Given the description of an element on the screen output the (x, y) to click on. 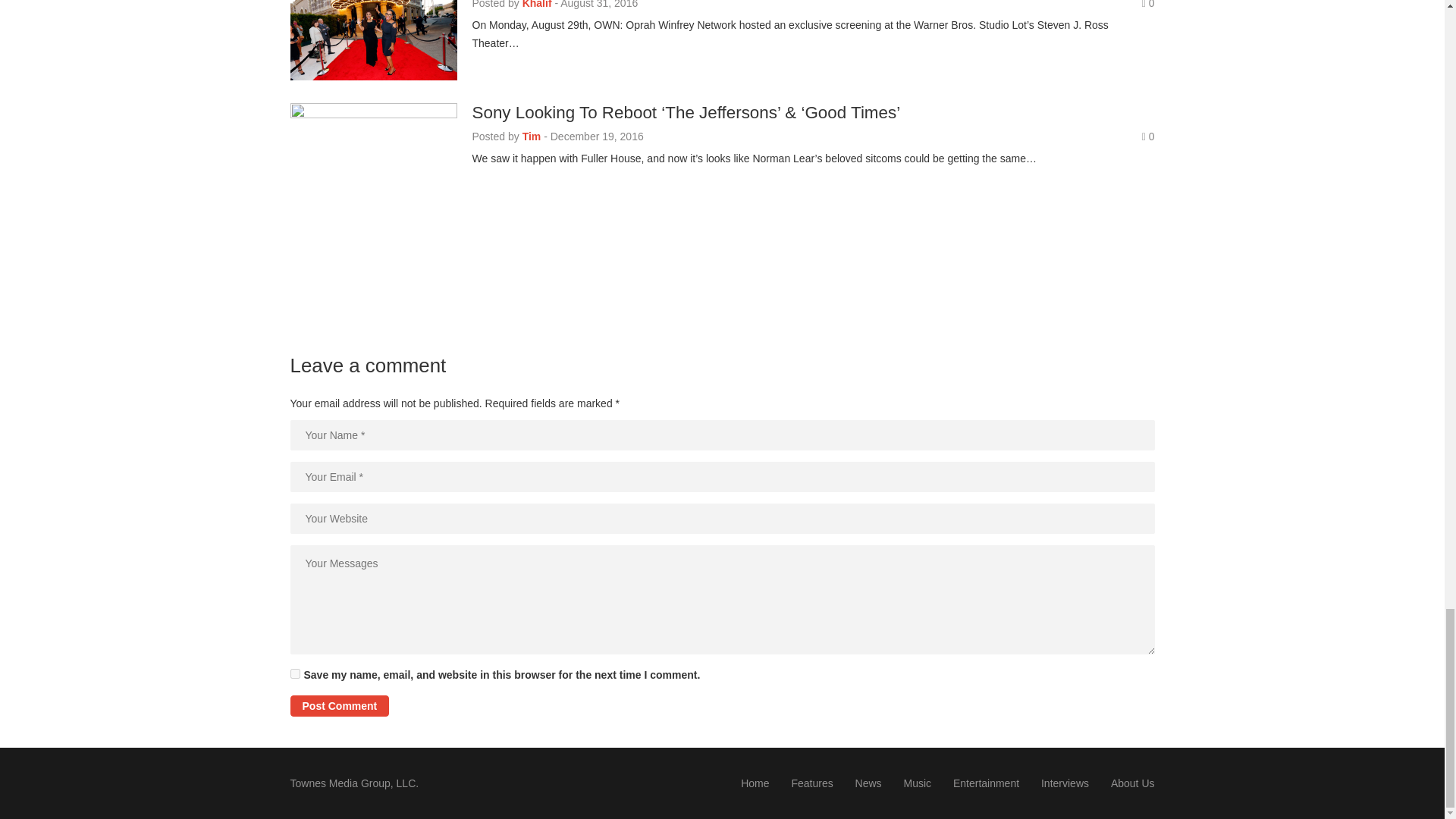
Post Comment (338, 705)
yes (294, 673)
Posts by Tim (531, 136)
Posts by Khalif (536, 4)
